Given the description of an element on the screen output the (x, y) to click on. 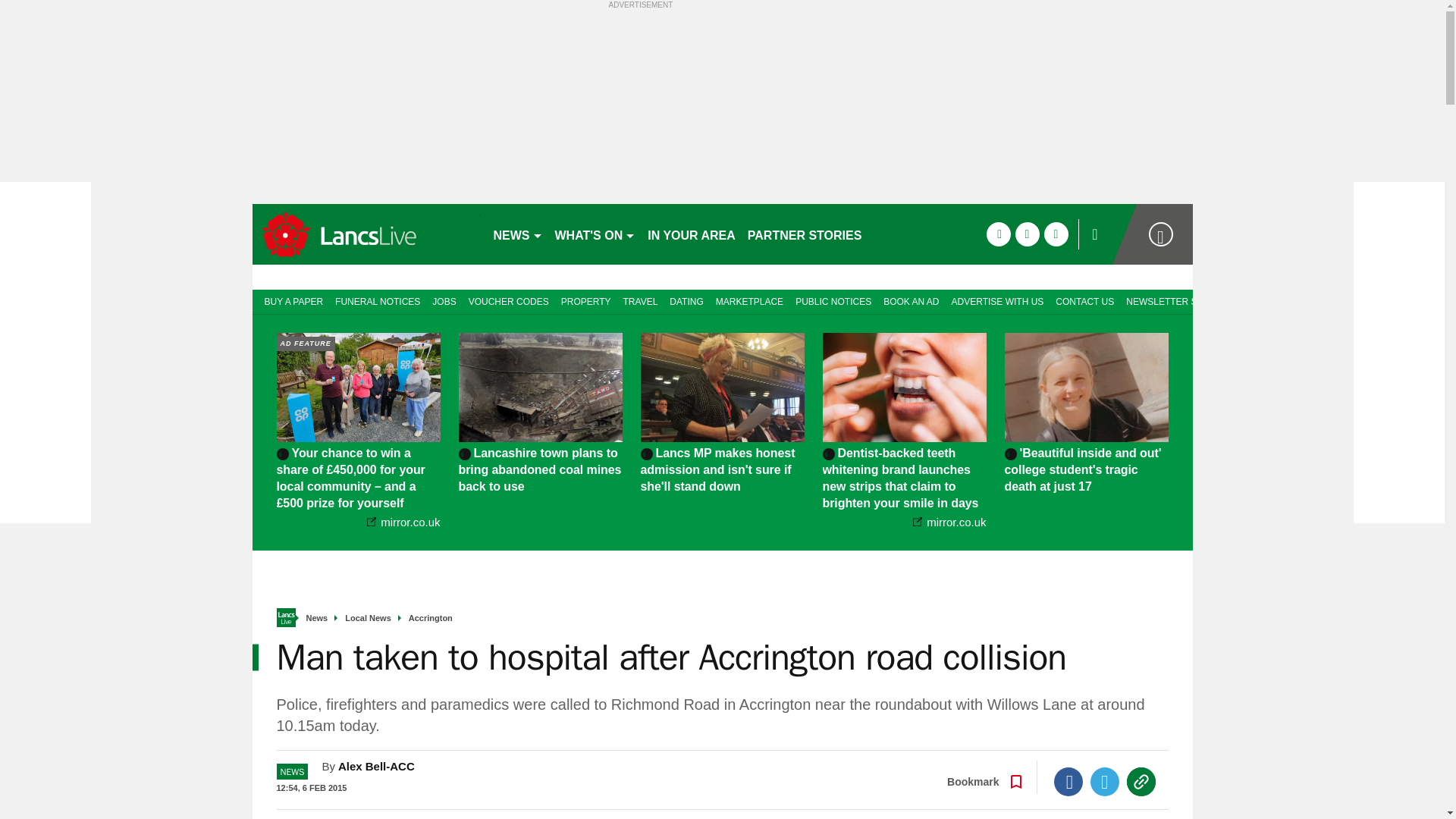
Facebook (1068, 781)
PARTNER STORIES (804, 233)
NEWS (517, 233)
FUNERAL NOTICES (377, 300)
ADVERTISE WITH US (996, 300)
WHAT'S ON (595, 233)
PUBLIC NOTICES (833, 300)
twitter (1026, 233)
IN YOUR AREA (691, 233)
VOUCHER CODES (508, 300)
3rd party ad content (721, 103)
BOOK AN AD (910, 300)
instagram (1055, 233)
Twitter (1104, 781)
